Given the description of an element on the screen output the (x, y) to click on. 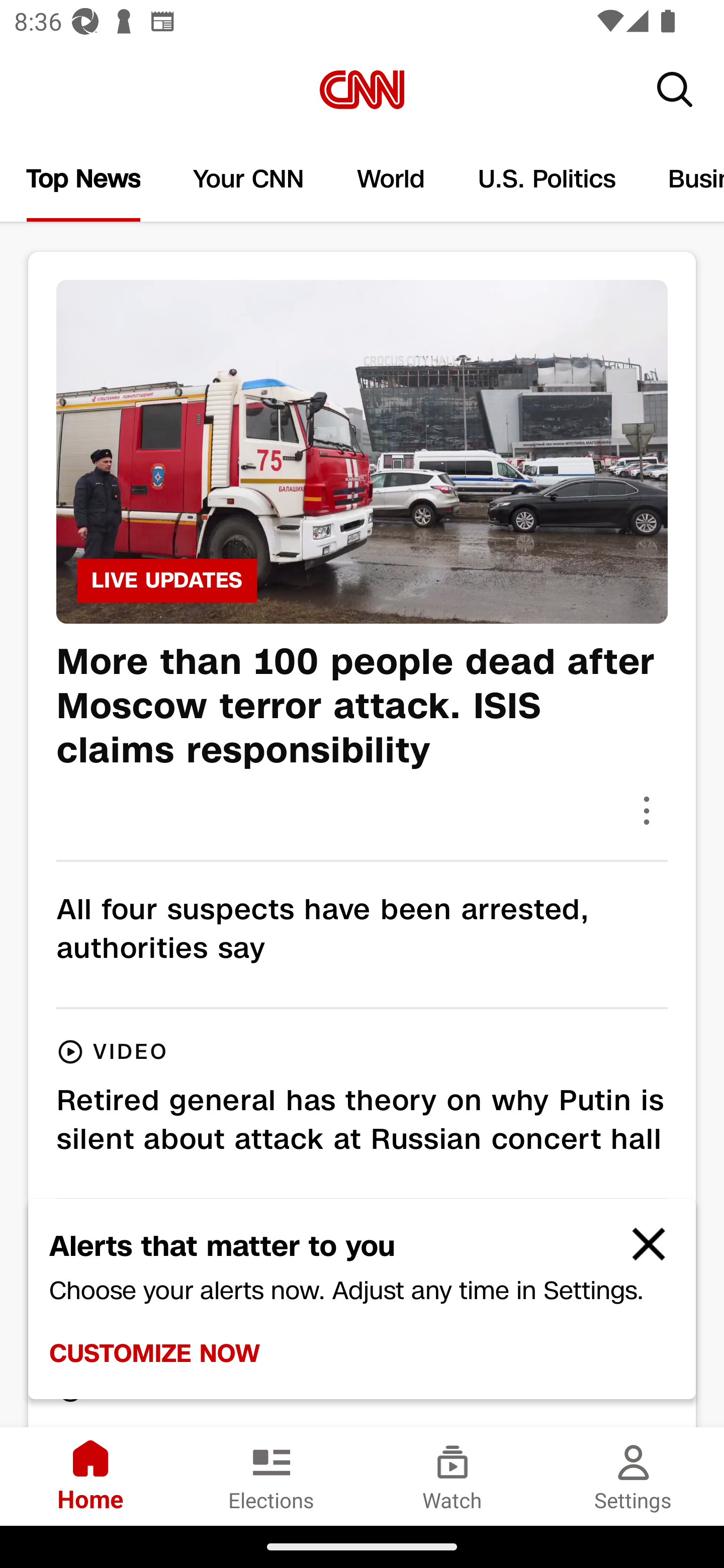
Your CNN (248, 179)
World (390, 179)
U.S. Politics (546, 179)
More actions (646, 810)
close (639, 1251)
Elections (271, 1475)
Watch (452, 1475)
Settings (633, 1475)
